Given the description of an element on the screen output the (x, y) to click on. 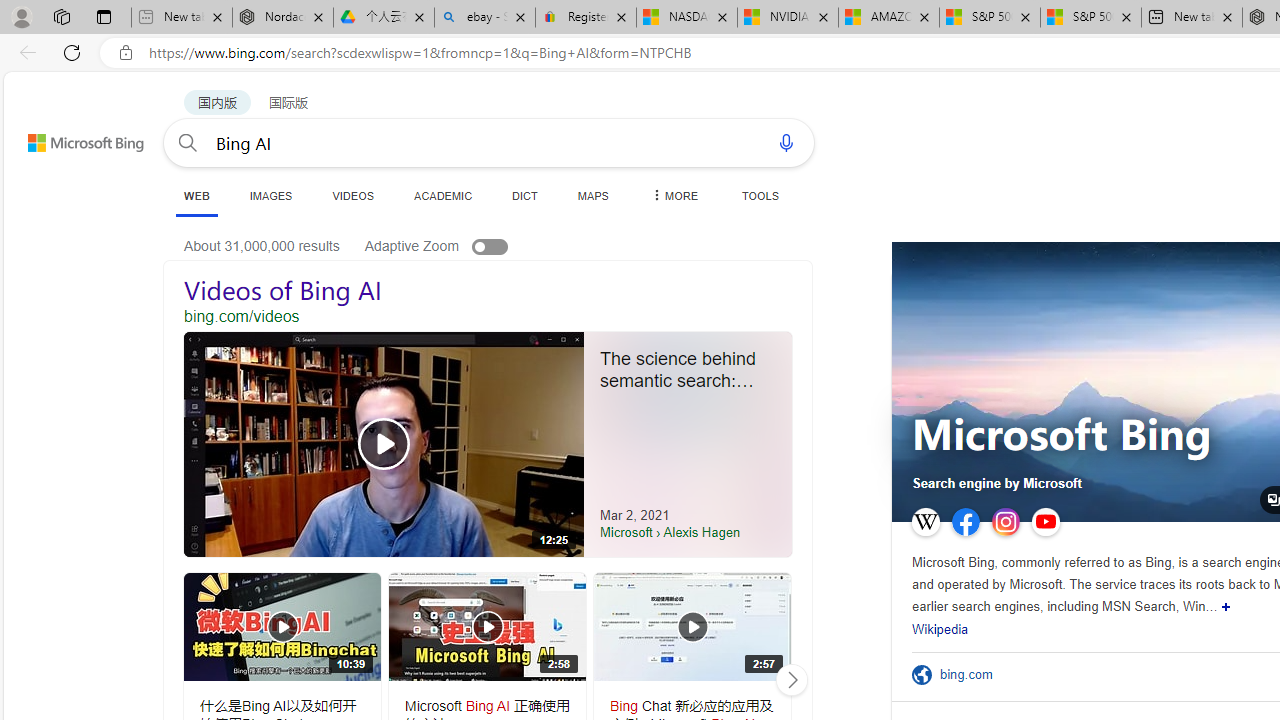
DICT (525, 195)
Official Site (925, 674)
ACADEMIC (443, 195)
ebay - Search (485, 17)
S&P 500, Nasdaq end lower, weighed by Nvidia dip | Watch (1090, 17)
MAPS (592, 195)
